Given the description of an element on the screen output the (x, y) to click on. 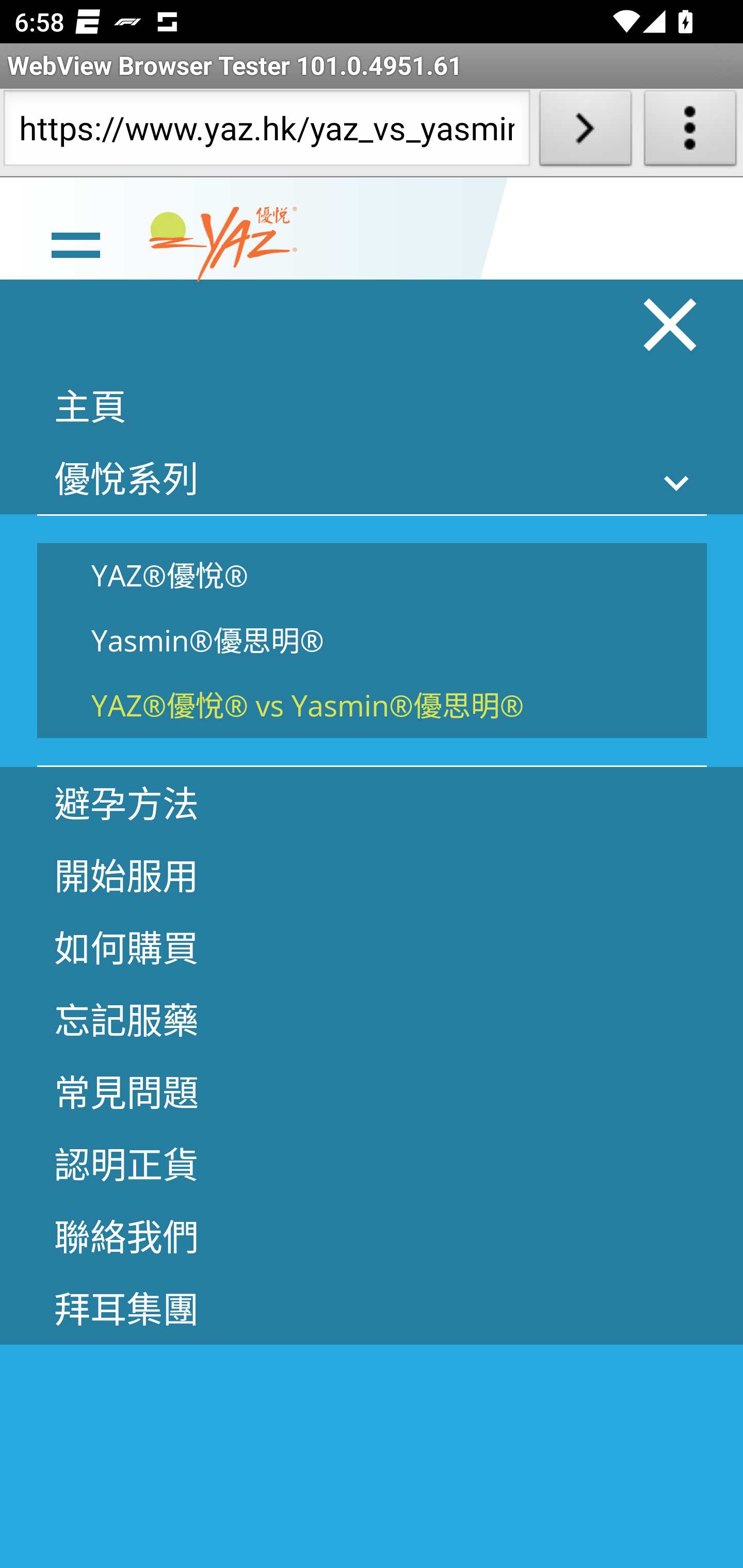
Load URL (585, 132)
About WebView (690, 132)
www.yaz (222, 244)
line Toggle burger menu (75, 242)
 Close burger menu (670, 323)
主頁 (371, 405)
優悅系列 (371, 477)
Toggle sub menu (677, 481)
YAZ®優悅® (372, 574)
Yasmin®優思明® (372, 640)
YAZ®優悅® vs Yasmin®優思明® (372, 704)
避孕方法 (371, 802)
開始服用 (371, 874)
如何購買 (371, 946)
忘記服藥 (371, 1018)
常見問題 (371, 1090)
認明正貨 (371, 1163)
聯絡我們 (371, 1235)
拜耳集團 (371, 1308)
